Given the description of an element on the screen output the (x, y) to click on. 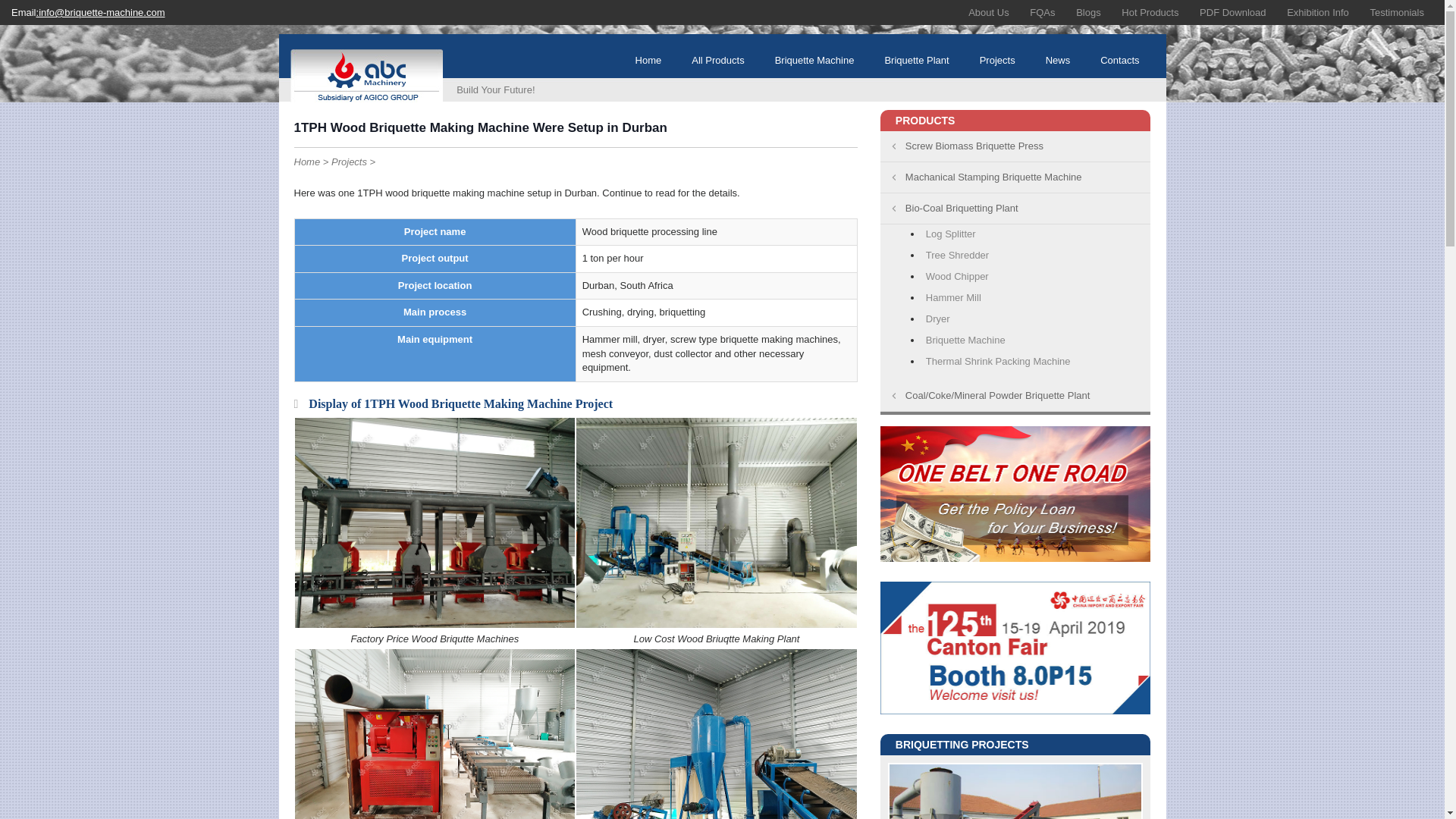
About Us (988, 12)
Hot Products (1149, 12)
Tree Shredder (1036, 256)
Bio-Coal Briquetting Plant (1015, 208)
Contacts (1119, 60)
Blogs (1087, 12)
FQAs (1041, 12)
All Products (717, 60)
Projects (348, 161)
Log Splitter (1036, 235)
